Given the description of an element on the screen output the (x, y) to click on. 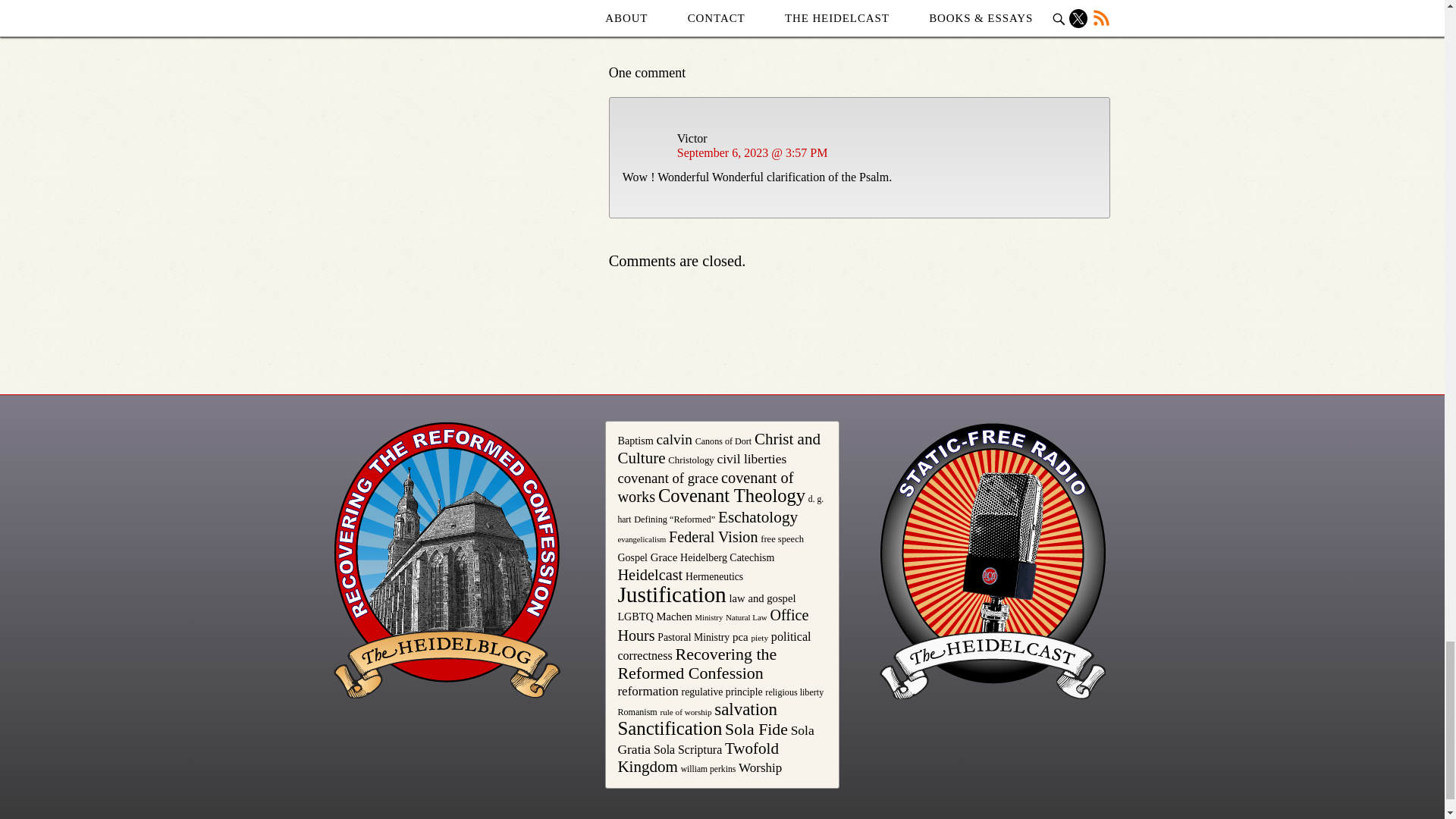
The Heidelblog (446, 559)
